Given the description of an element on the screen output the (x, y) to click on. 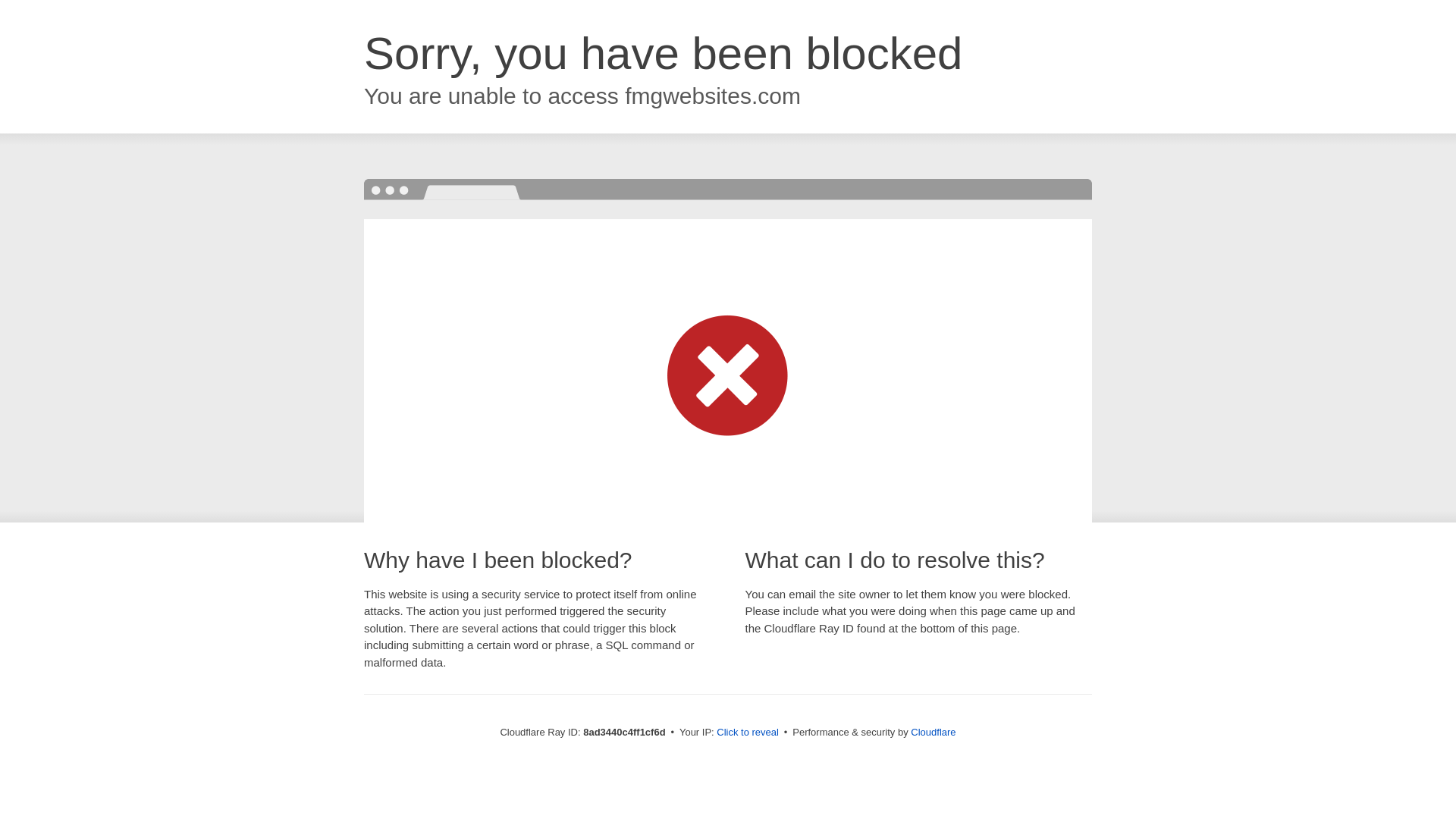
Cloudflare (933, 731)
Click to reveal (747, 732)
